Given the description of an element on the screen output the (x, y) to click on. 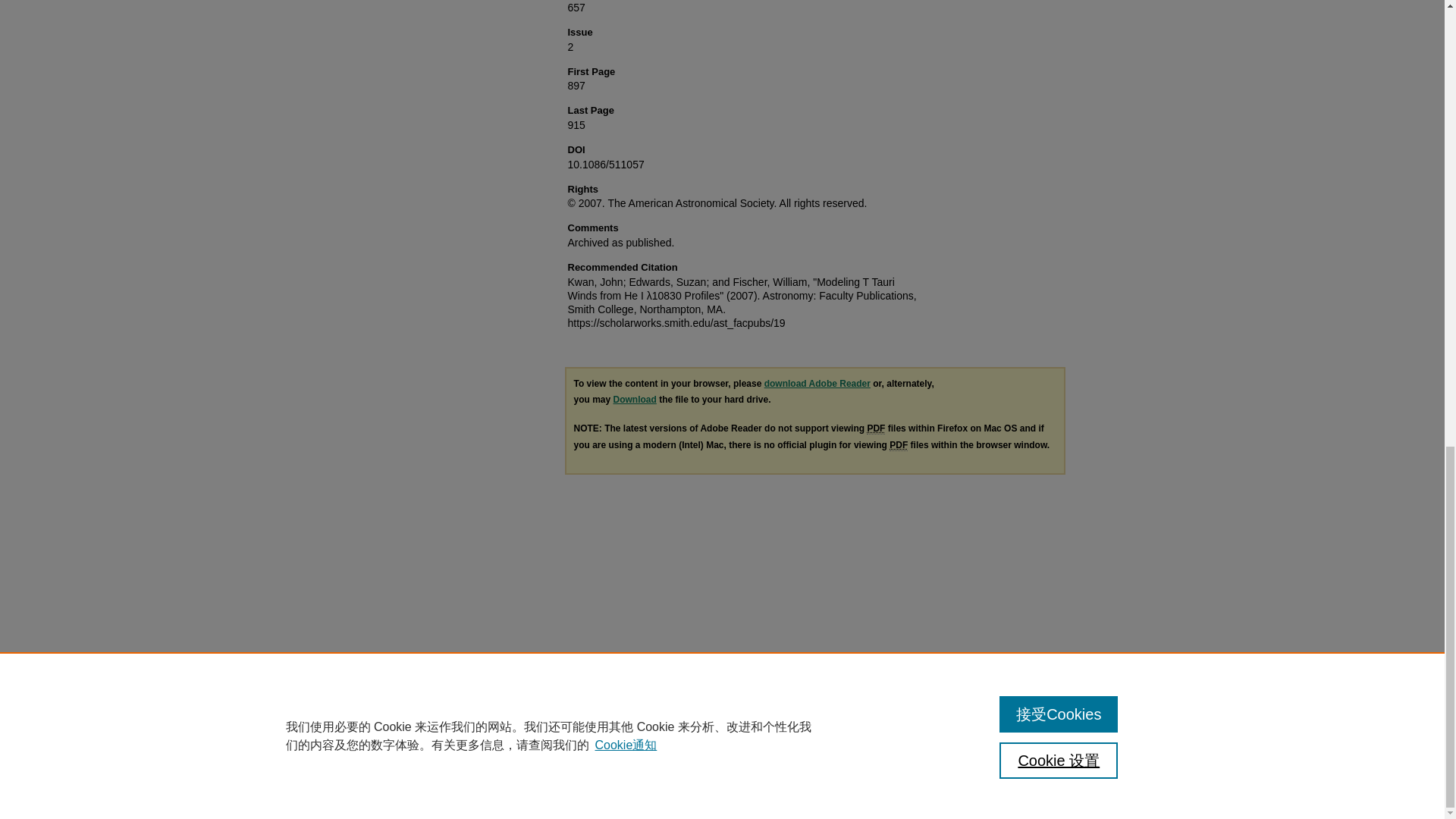
Download (634, 398)
download Adobe Reader (817, 383)
Portable Document Format (898, 445)
Portable Document Format (875, 428)
Adobe - Adobe Reader download (817, 383)
